Given the description of an element on the screen output the (x, y) to click on. 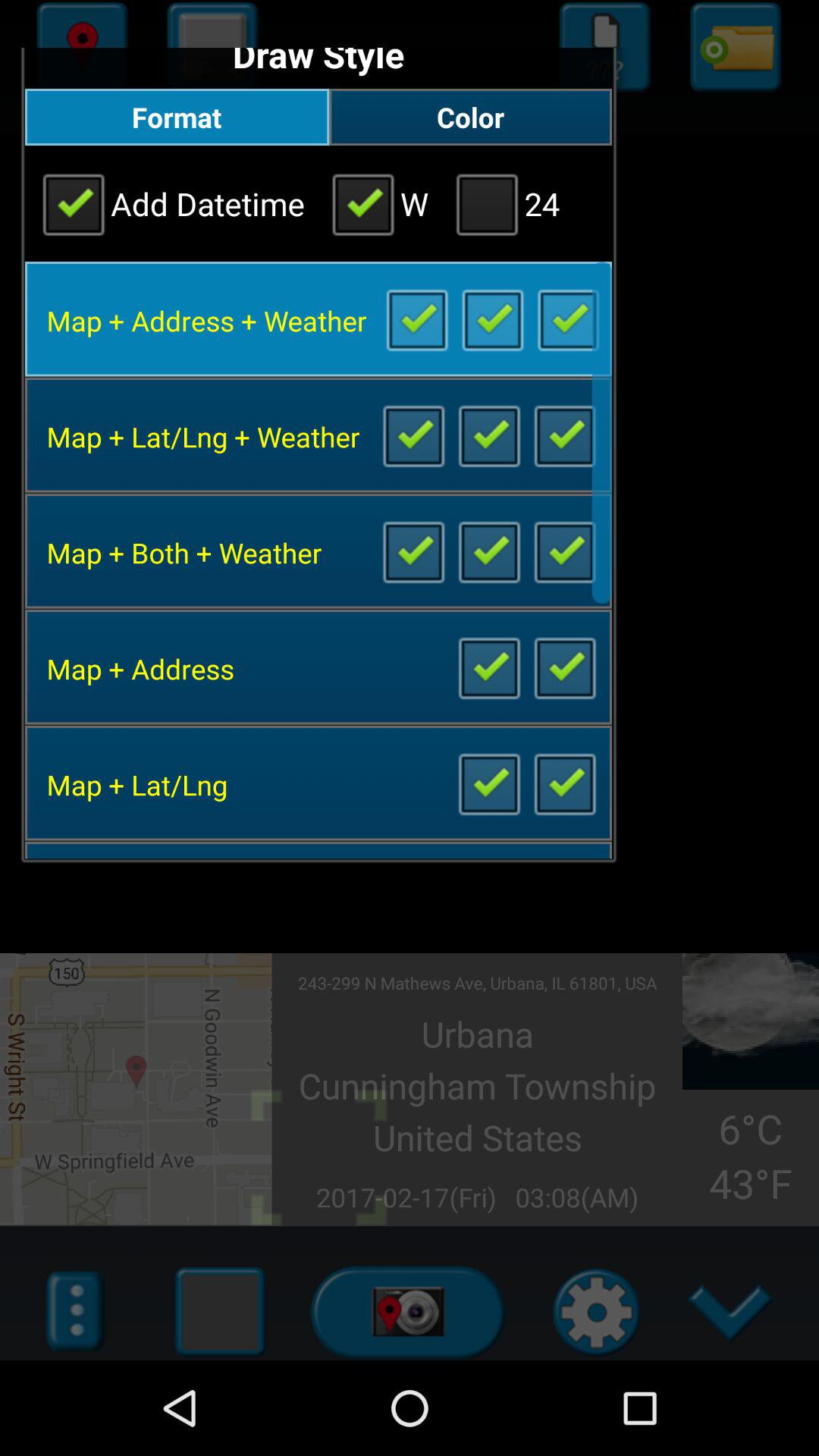
select map+lat/lan+weather (488, 434)
